Given the description of an element on the screen output the (x, y) to click on. 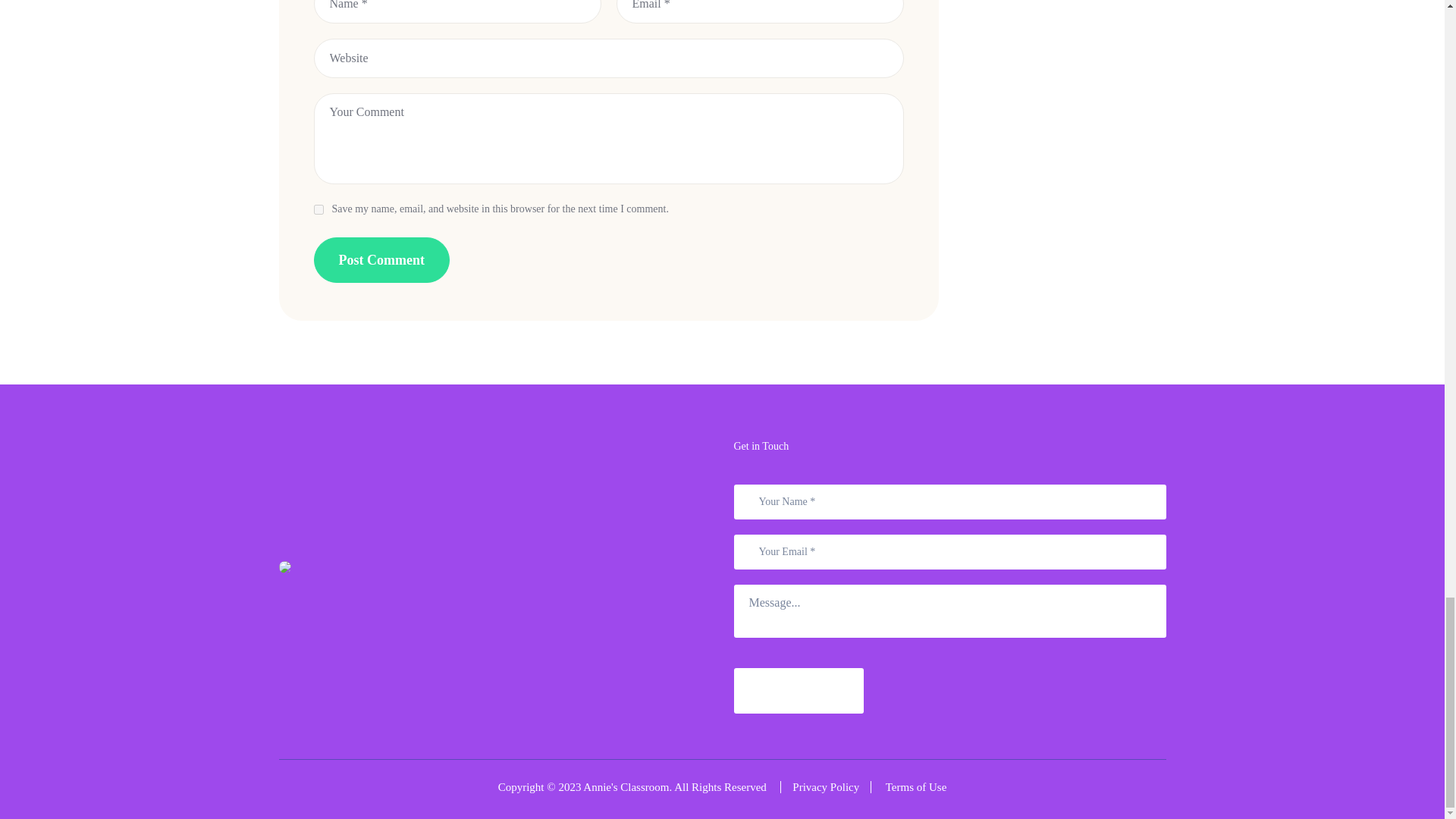
Post Comment (381, 259)
yes (318, 209)
Send Message (798, 690)
Website (609, 57)
